Given the description of an element on the screen output the (x, y) to click on. 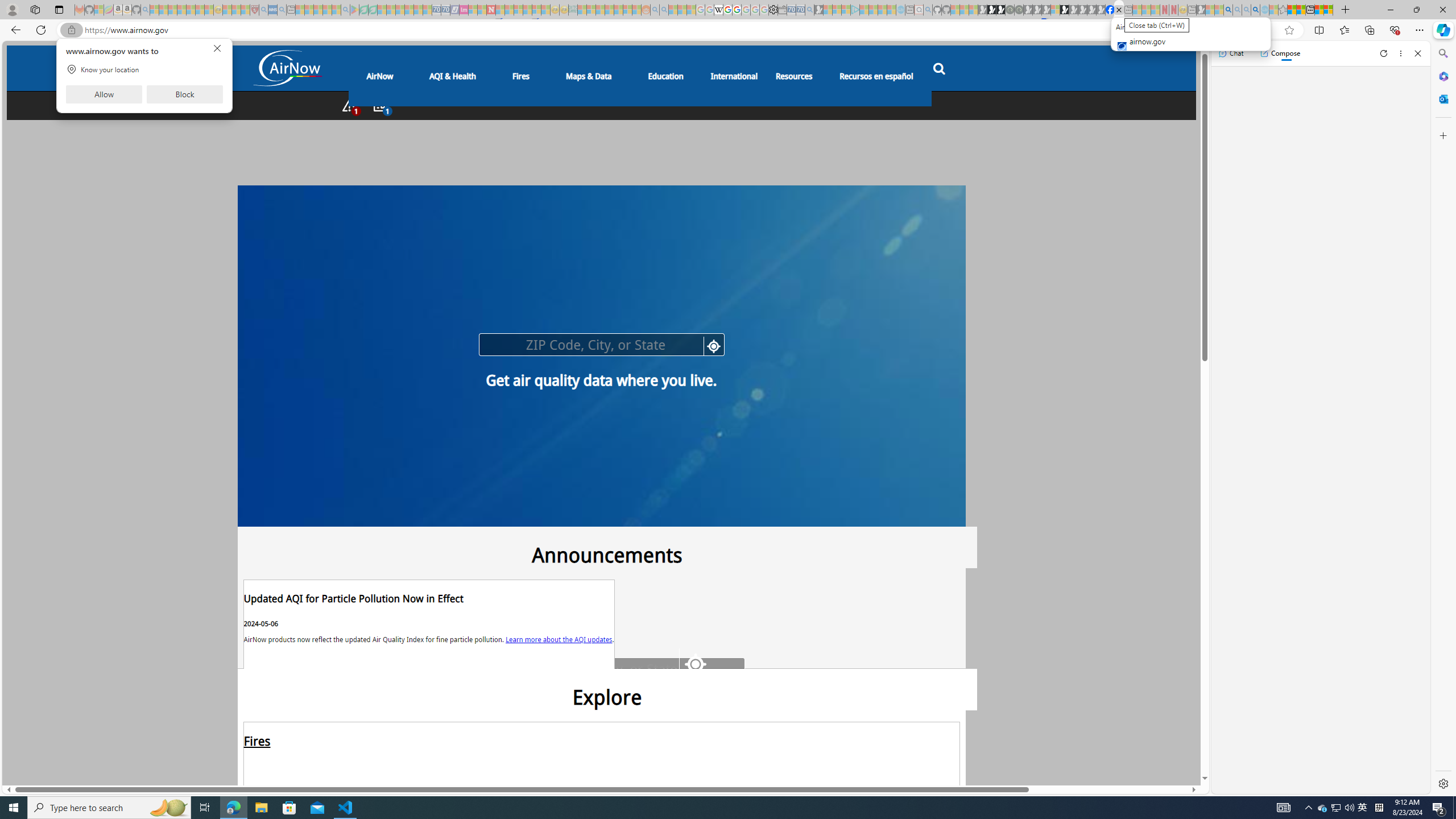
EPA (271, 554)
Air Now Logo (286, 69)
EPA (271, 551)
Compose (1279, 52)
